Given the description of an element on the screen output the (x, y) to click on. 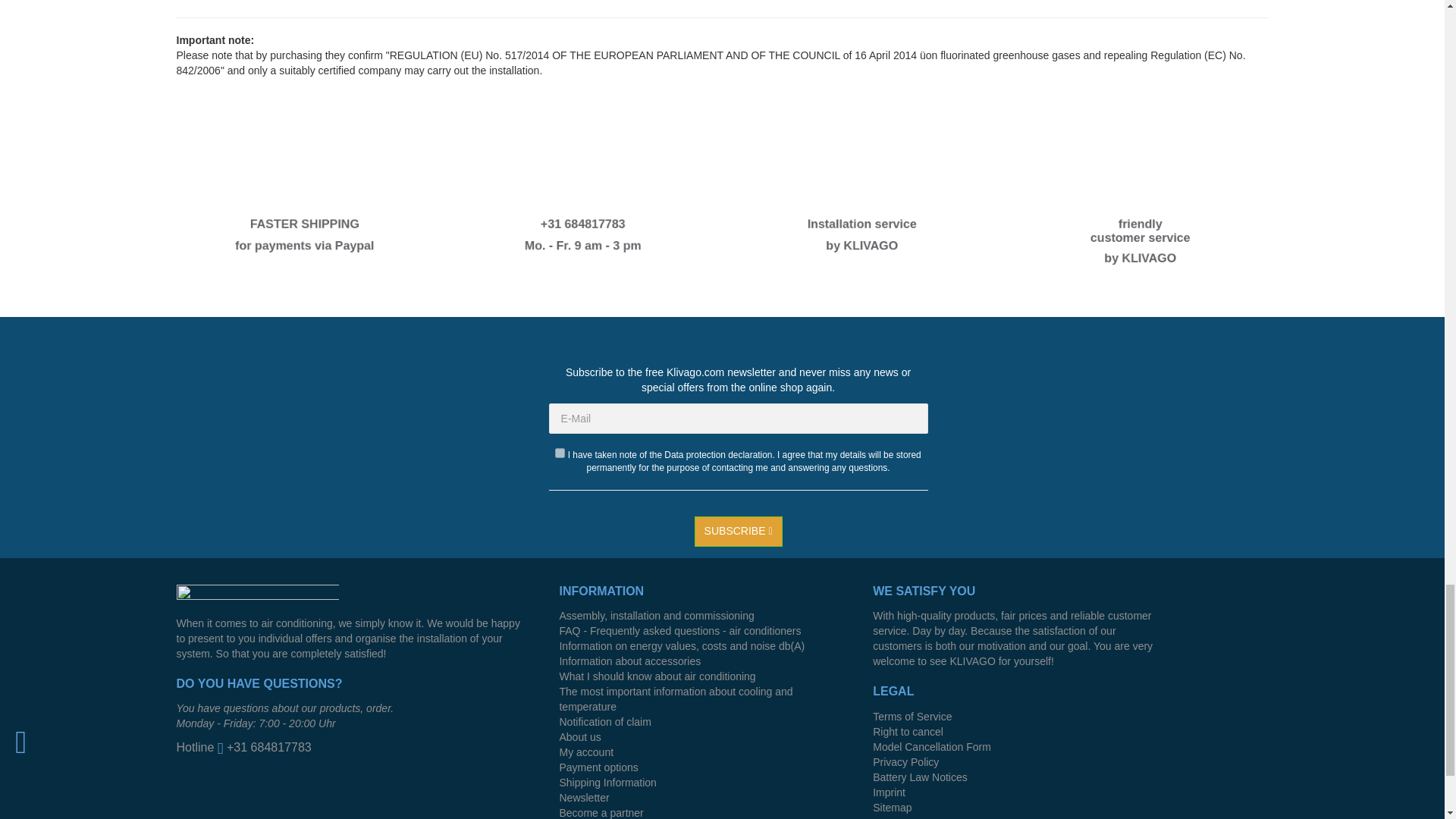
Y (559, 452)
